Given the description of an element on the screen output the (x, y) to click on. 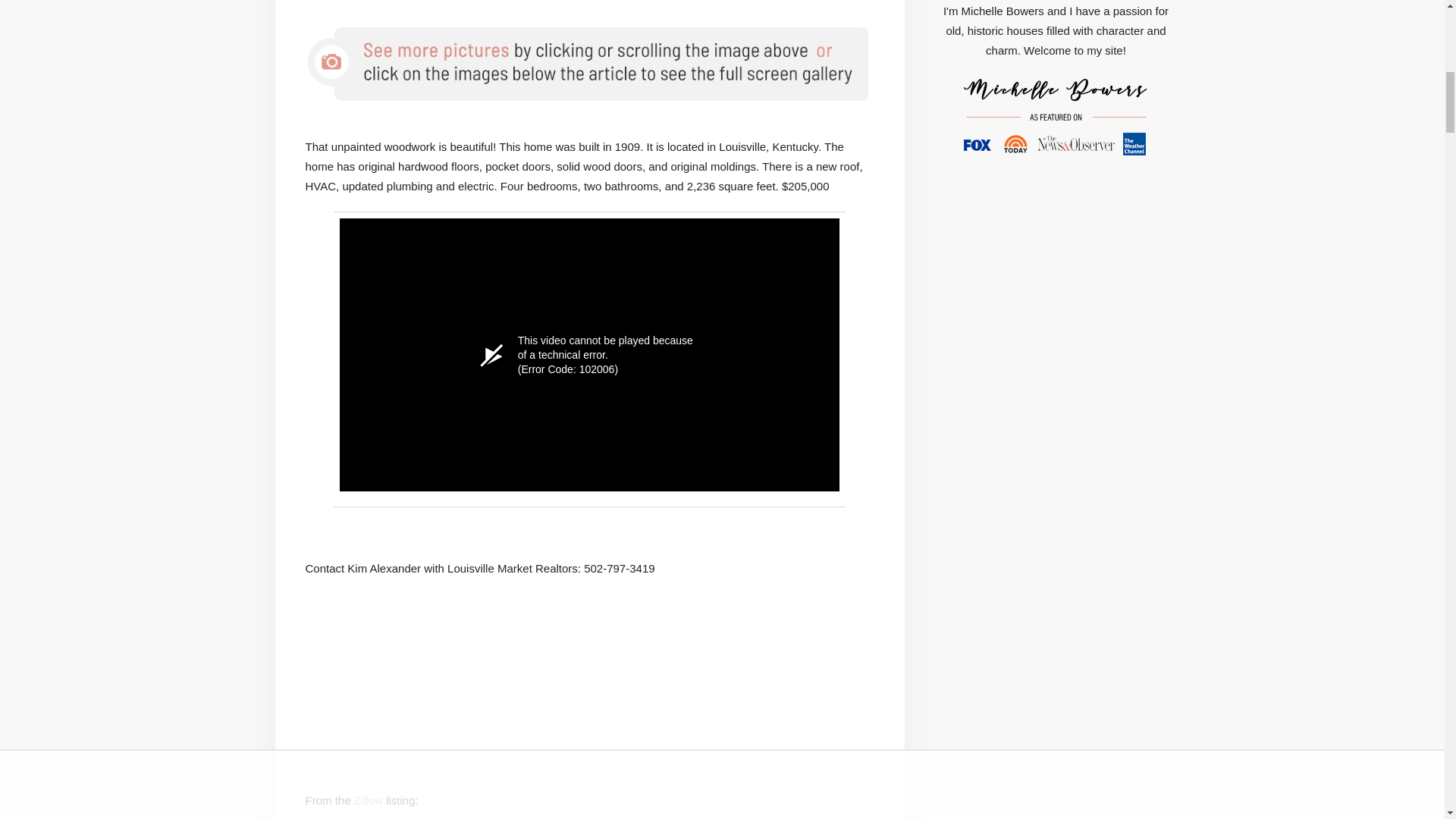
Zillow (367, 799)
